Given the description of an element on the screen output the (x, y) to click on. 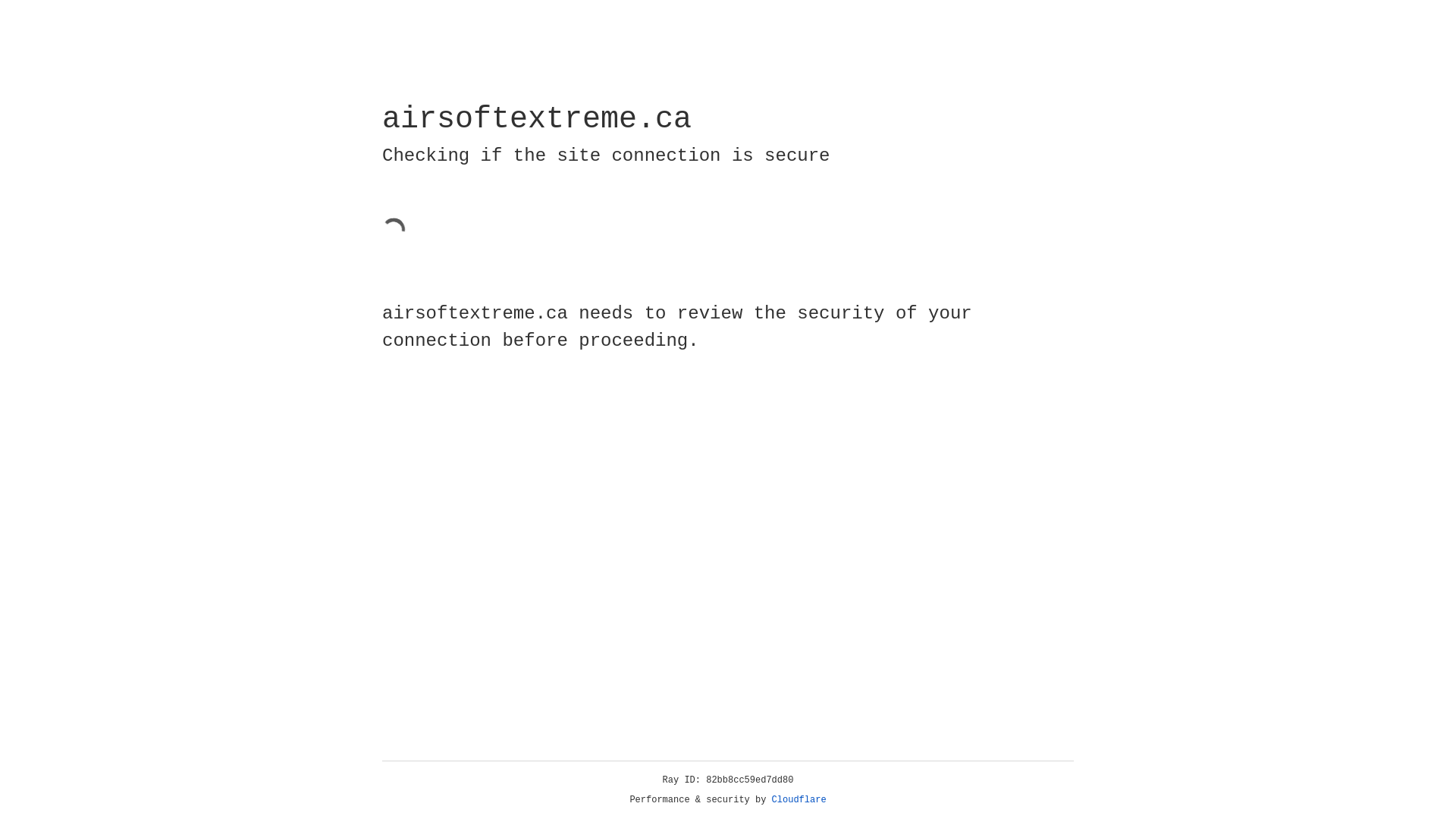
Cloudflare Element type: text (798, 799)
